Given the description of an element on the screen output the (x, y) to click on. 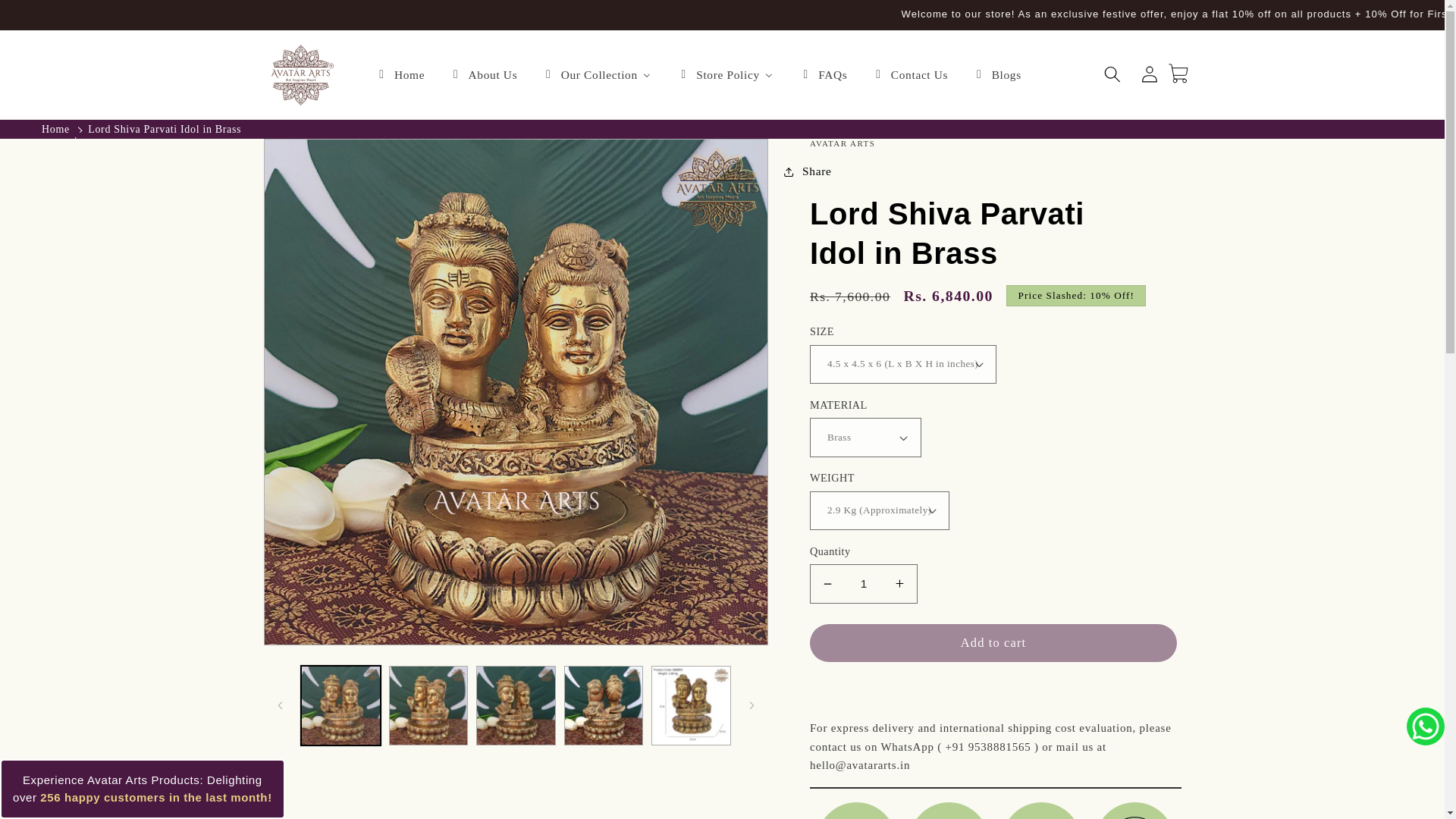
1 (863, 583)
Skip to content (49, 18)
